Given the description of an element on the screen output the (x, y) to click on. 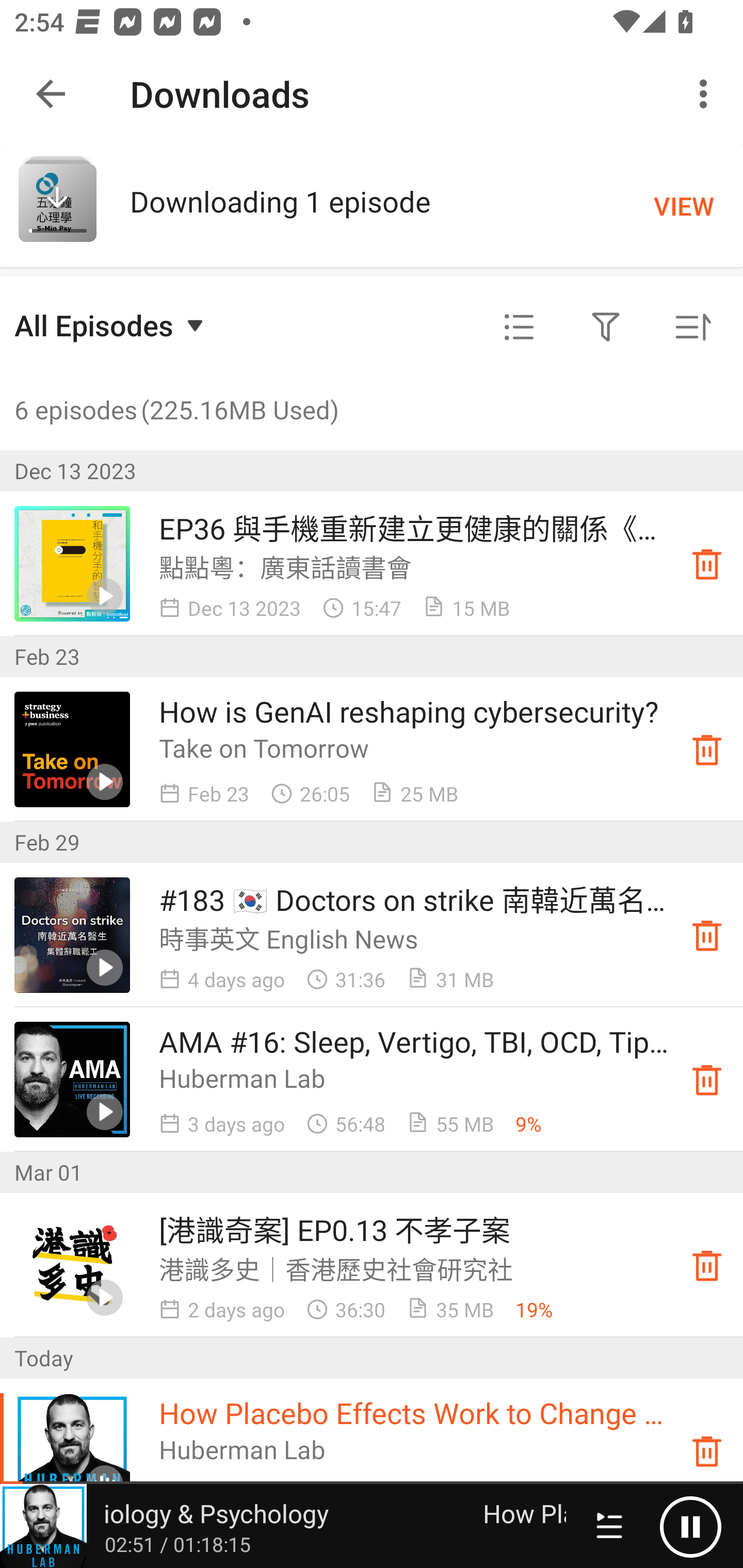
Navigate up (50, 93)
More options (706, 93)
5.0 Downloading 1 episode VIEW (371, 205)
All Episodes (111, 325)
 (518, 327)
 (605, 327)
 Sorted by oldest first (692, 327)
Downloaded (706, 563)
Downloaded (706, 749)
Downloaded (706, 935)
Downloaded (706, 1079)
Downloaded (706, 1265)
Downloaded (706, 1451)
Pause (690, 1526)
